Given the description of an element on the screen output the (x, y) to click on. 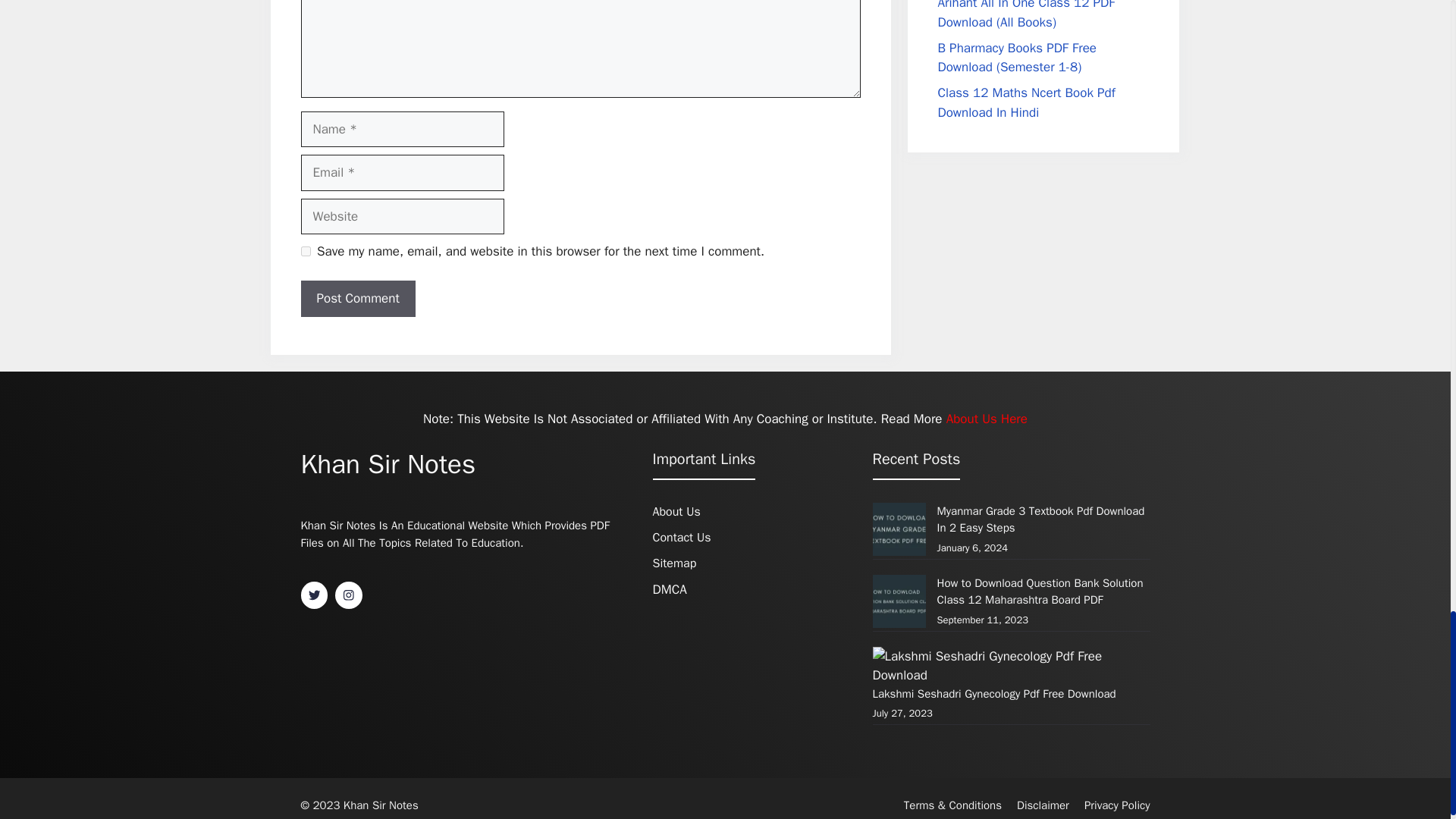
yes (304, 251)
Post Comment (356, 298)
Post Comment (356, 298)
